Given the description of an element on the screen output the (x, y) to click on. 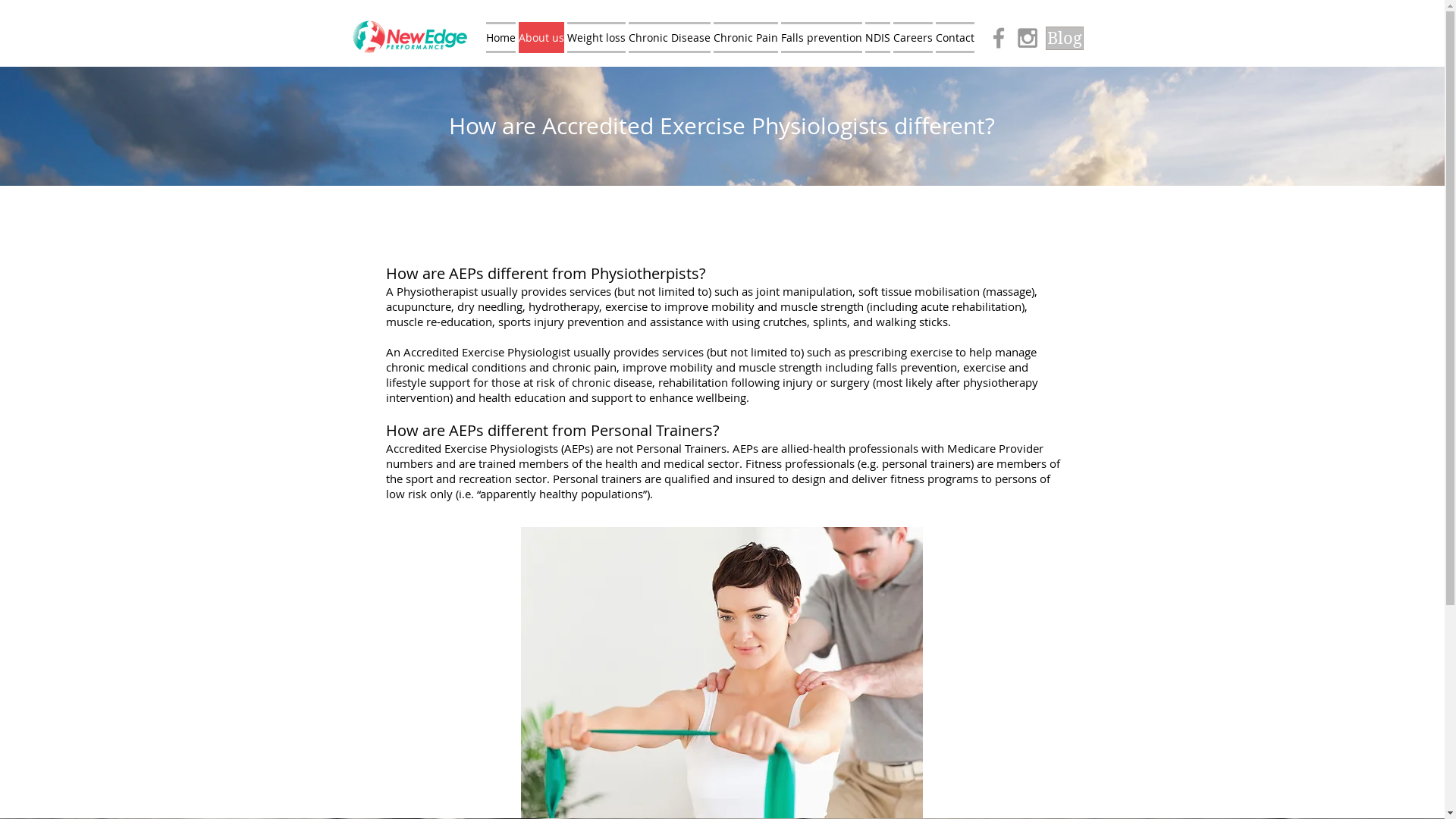
About us Element type: text (541, 37)
Weight loss Element type: text (596, 37)
Chronic Disease Element type: text (668, 37)
Home Element type: text (499, 37)
Falls prevention Element type: text (821, 37)
Contact Element type: text (954, 37)
Careers Element type: text (912, 37)
NDIS Element type: text (876, 37)
Chronic Pain Element type: text (744, 37)
Blog Element type: text (1063, 38)
